Given the description of an element on the screen output the (x, y) to click on. 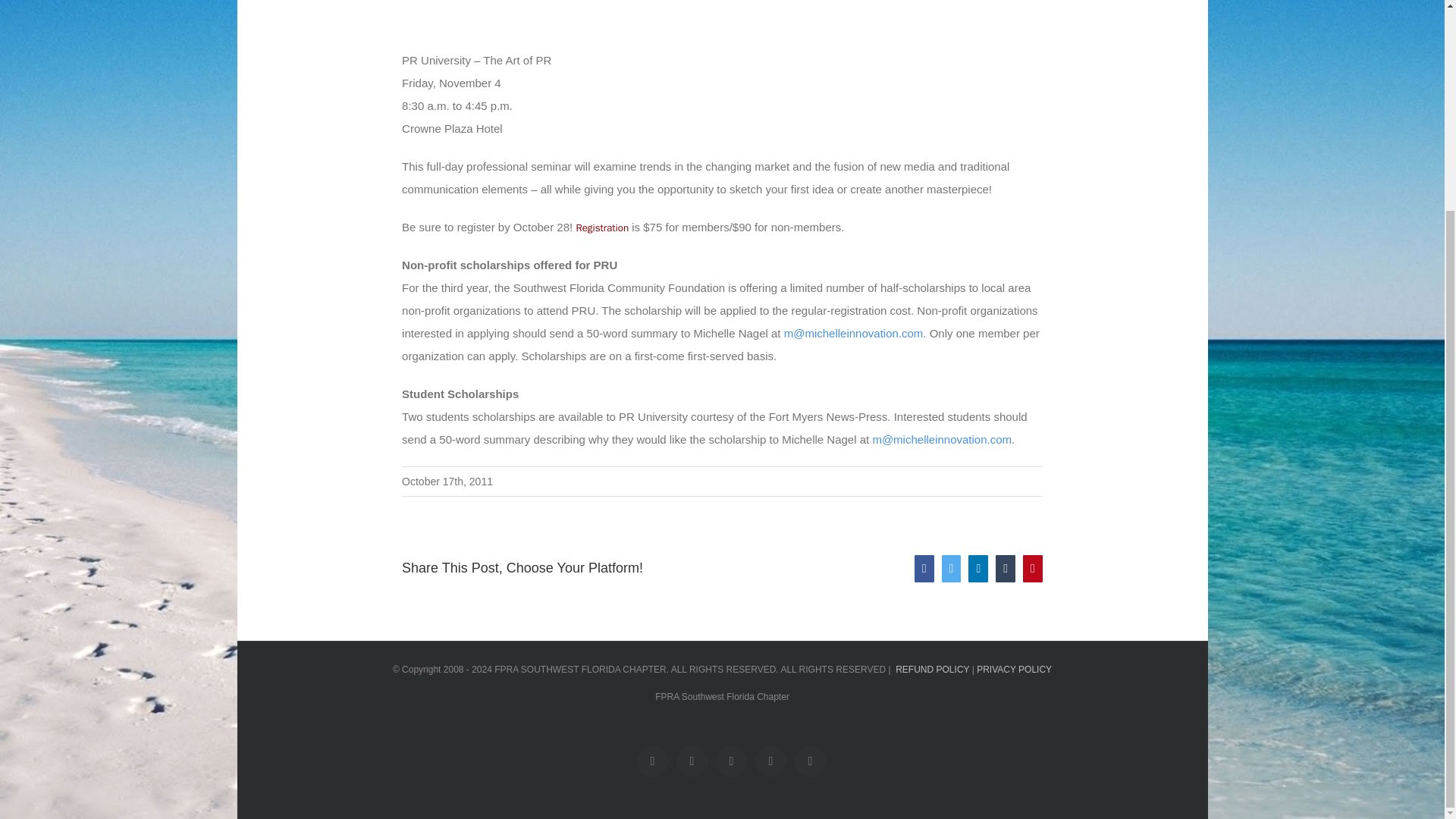
Twitter (692, 761)
Instagram (810, 761)
YouTube (771, 761)
Facebook (652, 761)
LinkedIn (732, 761)
